Given the description of an element on the screen output the (x, y) to click on. 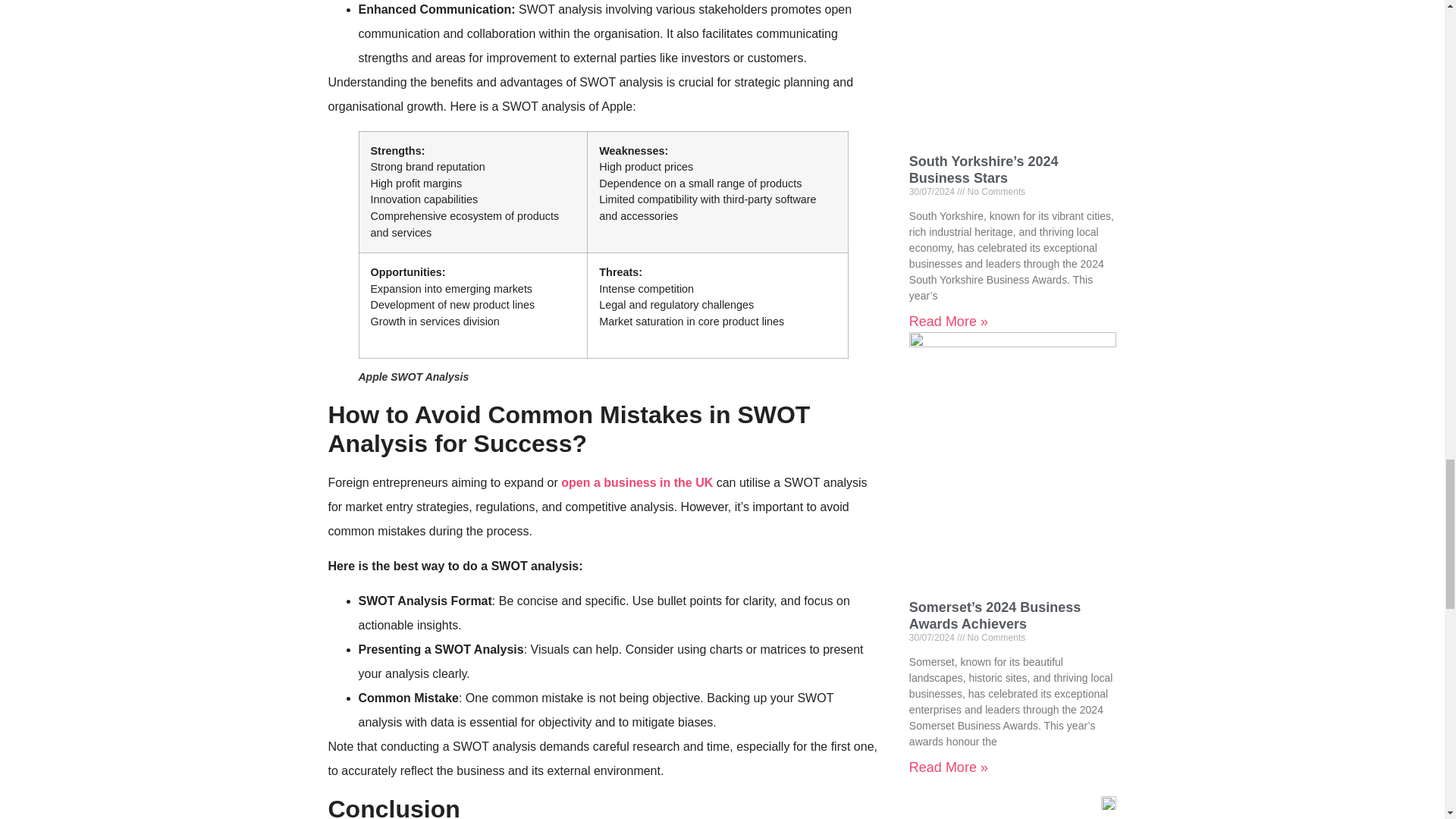
open a business in the UK (636, 481)
